Given the description of an element on the screen output the (x, y) to click on. 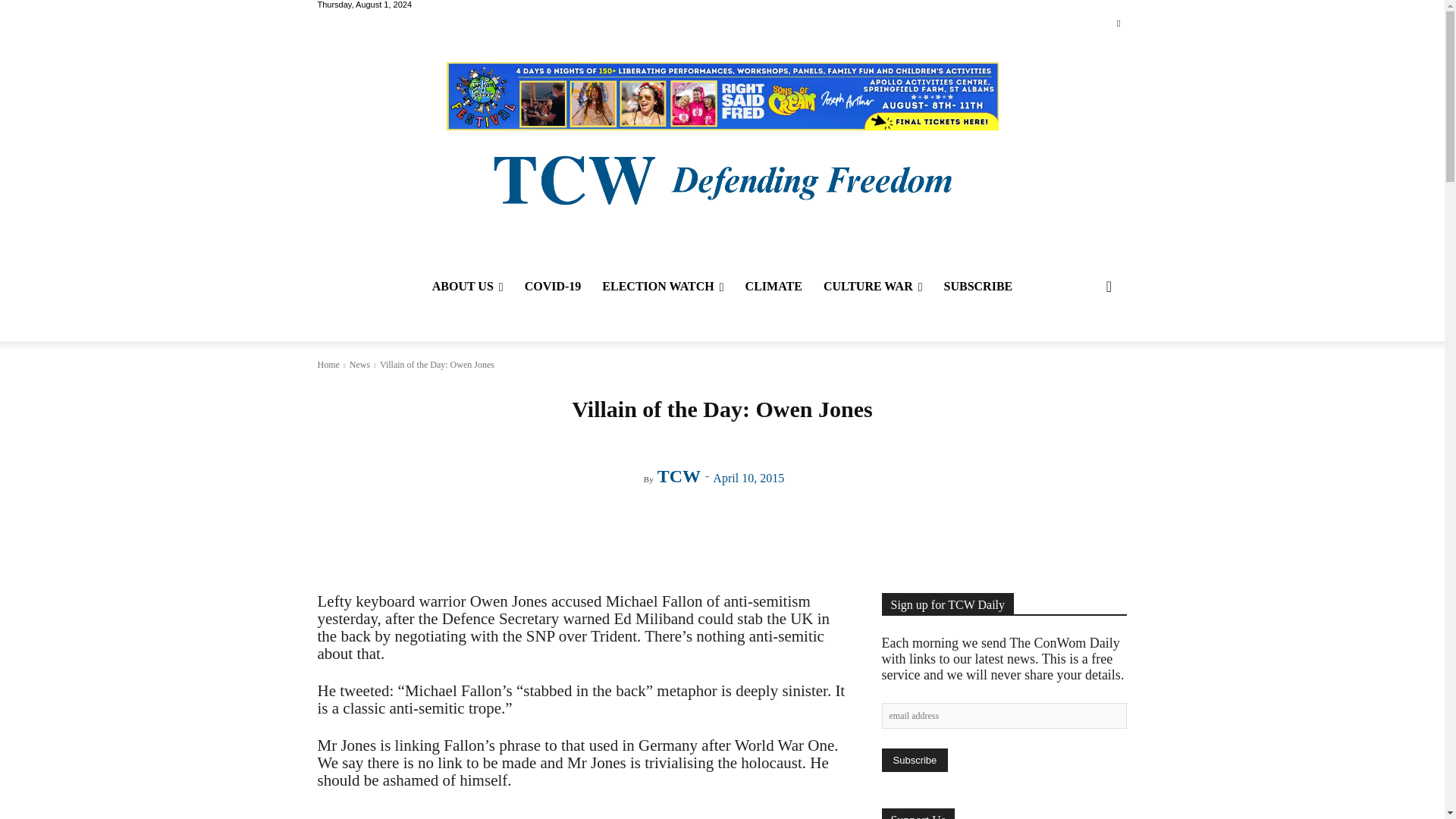
Twitter (1117, 23)
ABOUT US (467, 286)
COVID-19 (552, 286)
Subscribe (913, 760)
ELECTION WATCH (662, 286)
CLIMATE (773, 286)
View all posts in News (359, 364)
The Conservative Woman (721, 178)
